Given the description of an element on the screen output the (x, y) to click on. 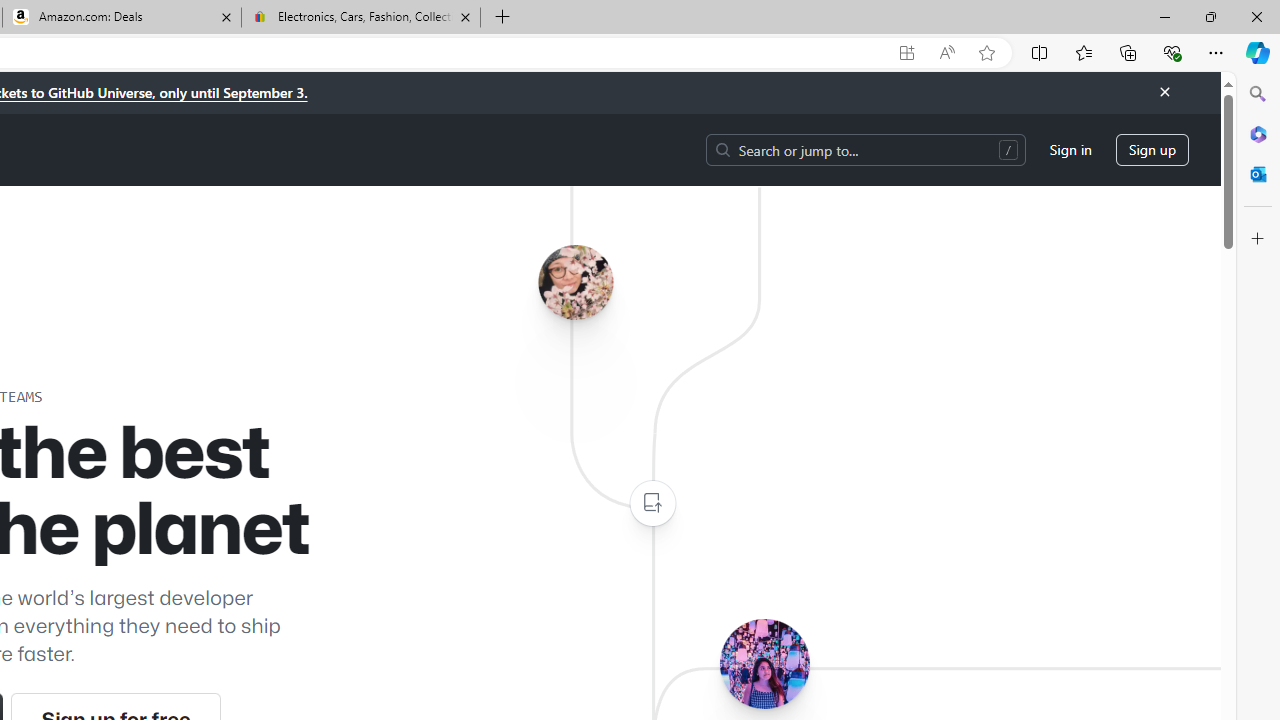
Class: color-fg-muted width-full (652, 503)
Avatar of the user ohjoycelau (575, 281)
Sign up (1152, 149)
